Given the description of an element on the screen output the (x, y) to click on. 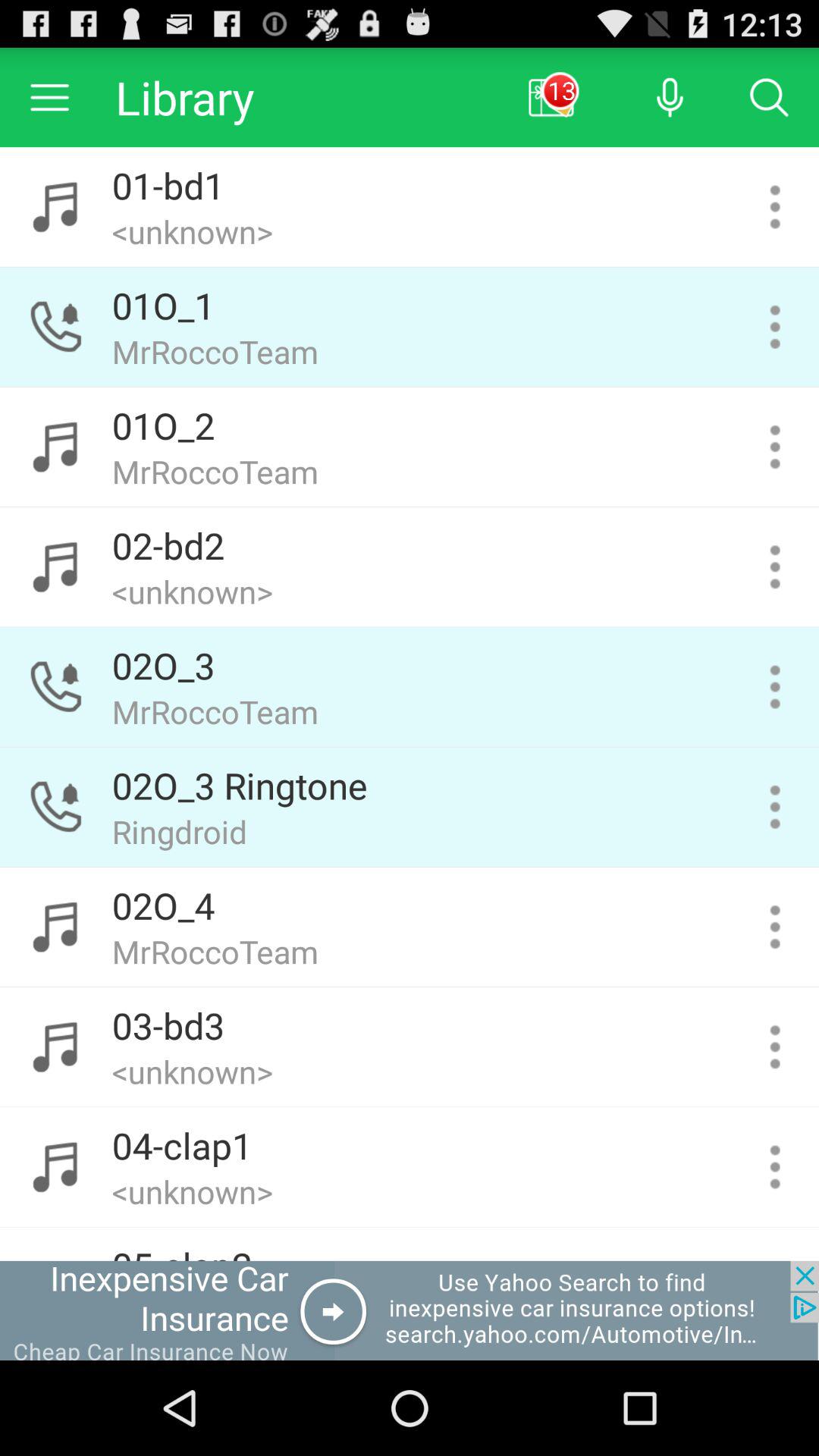
see options (775, 446)
